Given the description of an element on the screen output the (x, y) to click on. 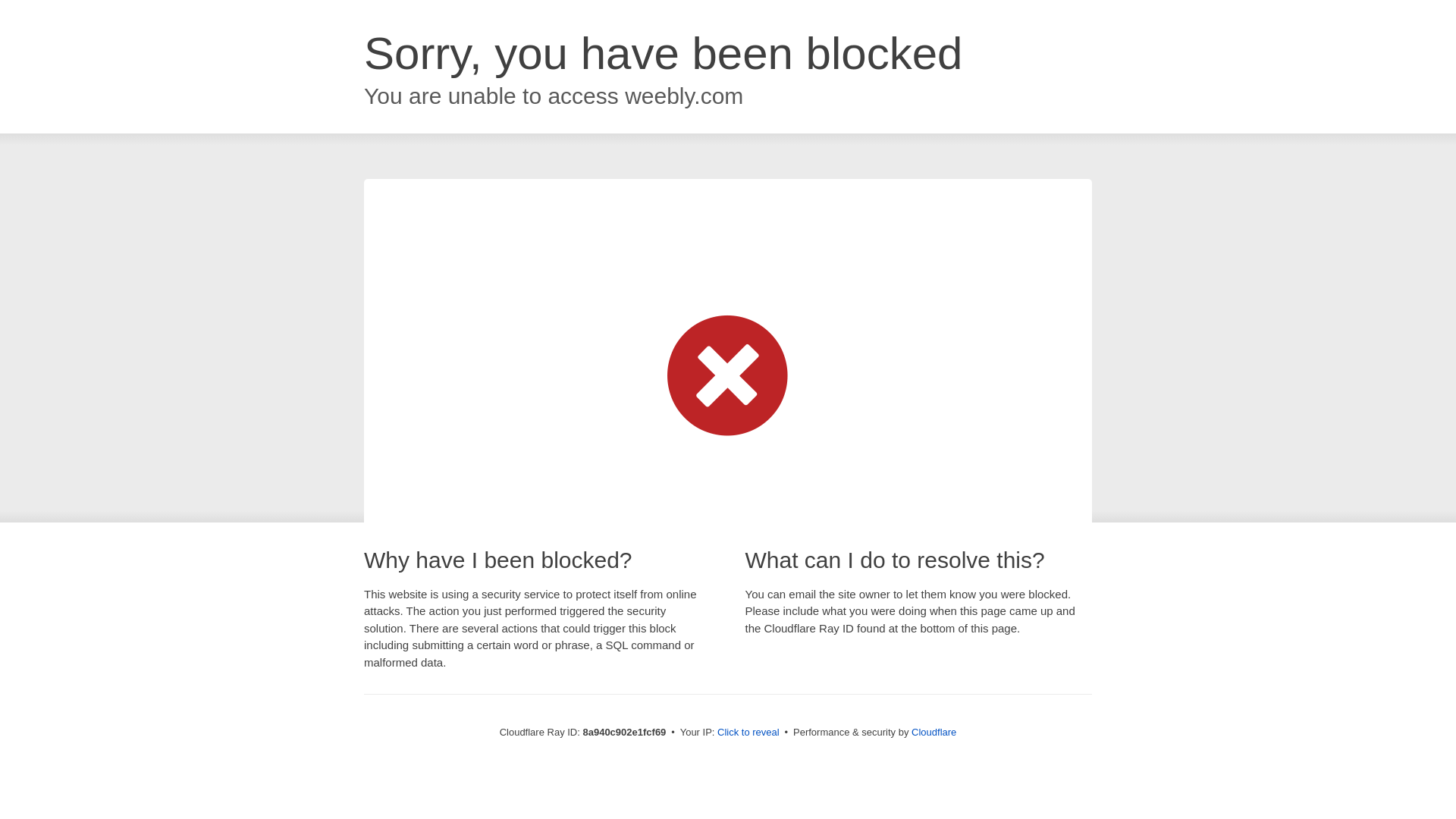
Cloudflare (933, 731)
Click to reveal (747, 732)
